Given the description of an element on the screen output the (x, y) to click on. 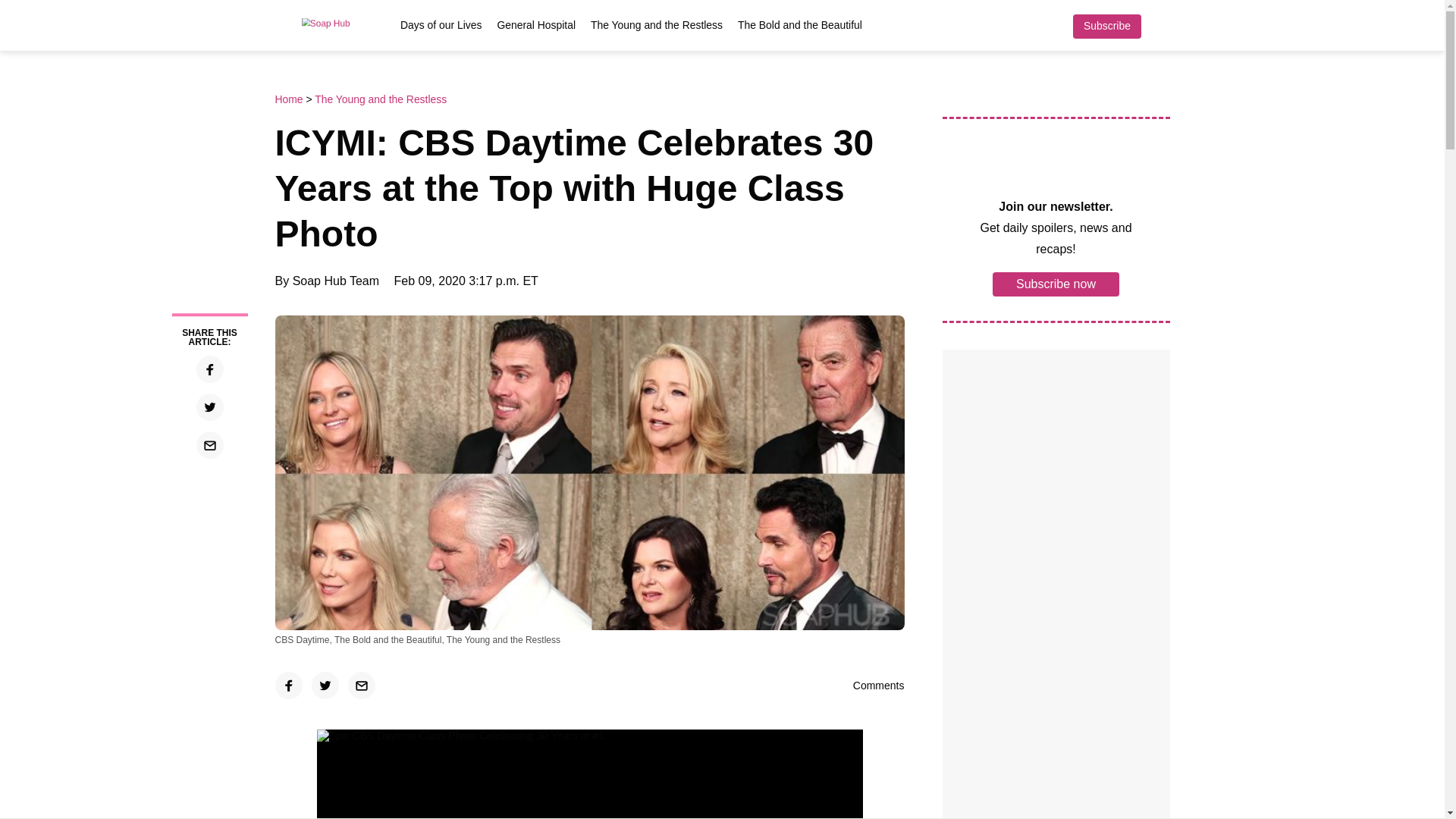
Soap Hub Team (335, 280)
The Young and the Restless (380, 99)
The Bold and the Beautiful (799, 24)
Click to share on Twitter (208, 406)
Click to email a link to a friend (208, 444)
Click to share on Facebook (208, 369)
Click to share on Twitter (324, 685)
Days of our Lives (441, 24)
Home (290, 99)
The Young and the Restless (656, 24)
Search (1161, 26)
Click to share on Facebook (288, 685)
Subscribe (1105, 26)
General Hospital (536, 24)
Click to email a link to a friend (360, 685)
